Given the description of an element on the screen output the (x, y) to click on. 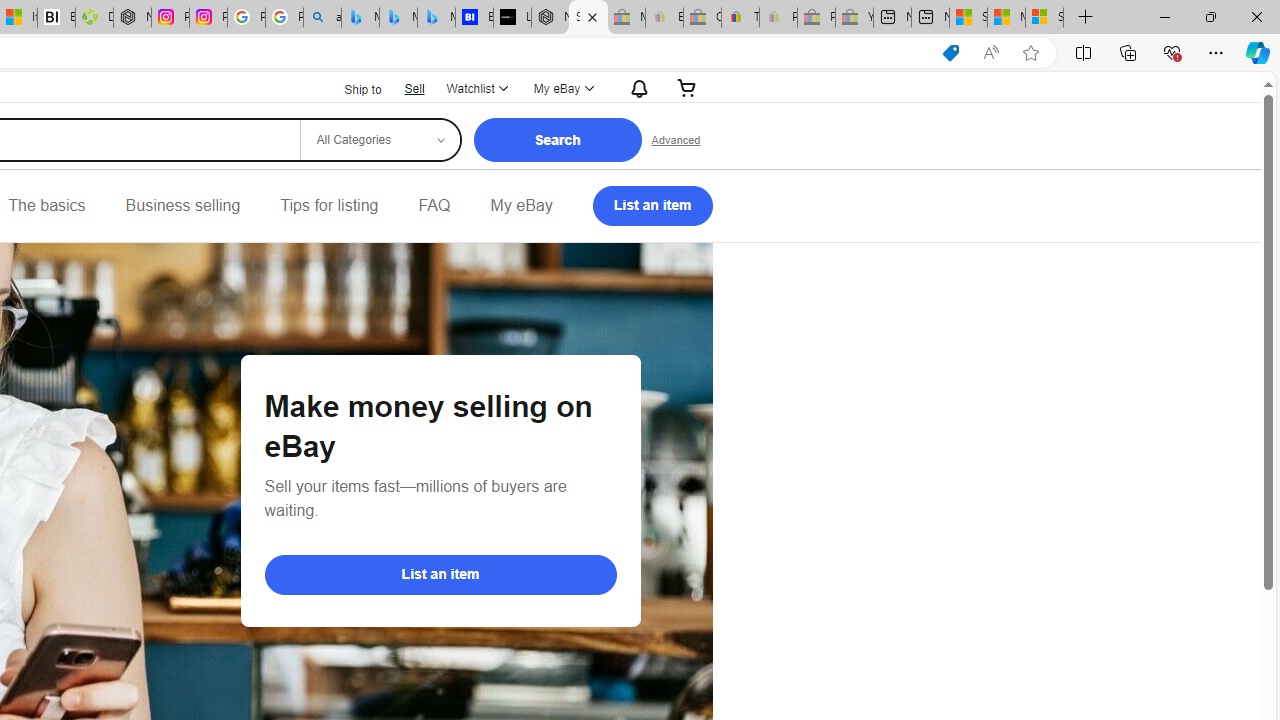
My eBay (521, 205)
Your shopping cart (687, 88)
Descarga Driver Updater (93, 17)
WatchlistExpand Watch List (476, 88)
My eBay (521, 205)
List an item (651, 205)
Tips for listing (329, 205)
